Given the description of an element on the screen output the (x, y) to click on. 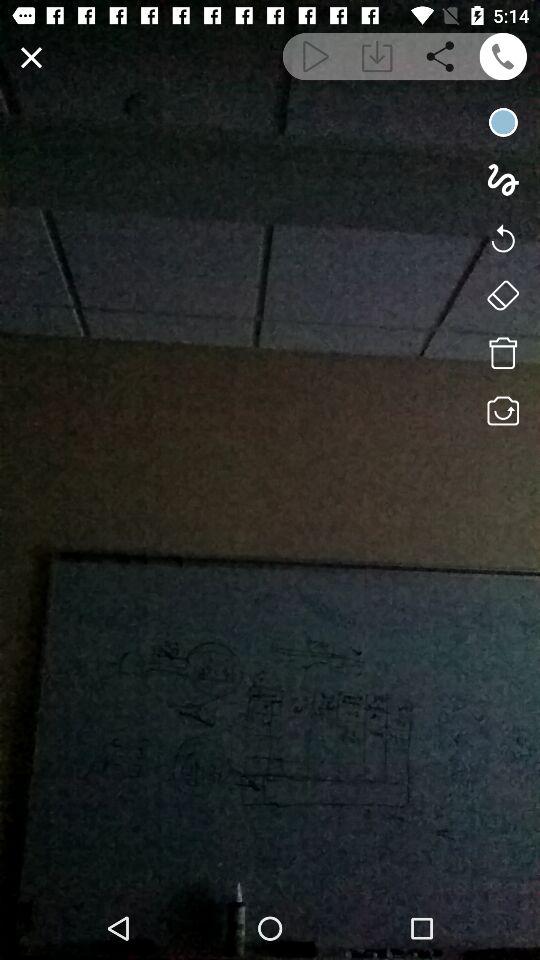
select color (502, 122)
